Given the description of an element on the screen output the (x, y) to click on. 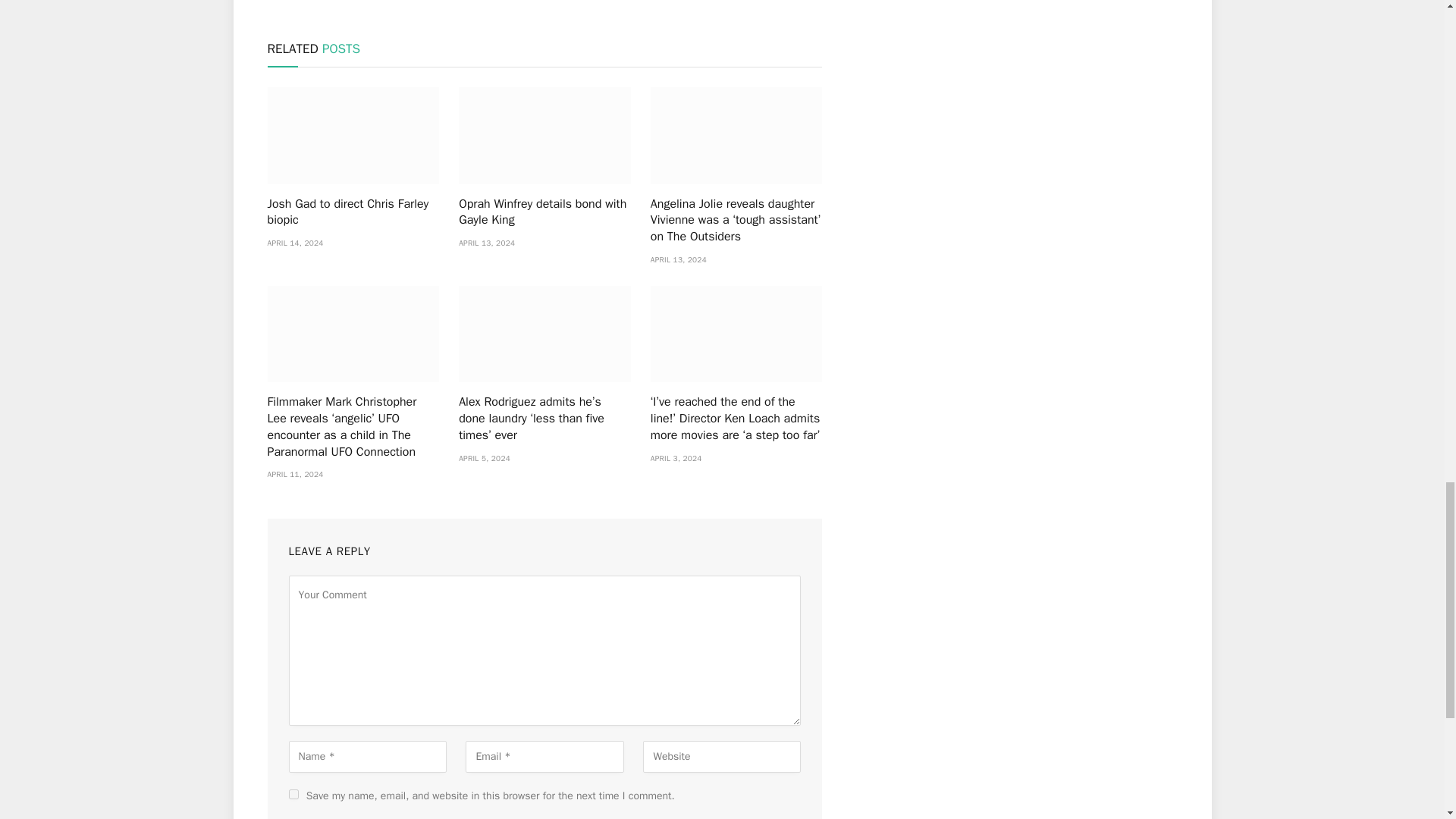
Oprah Winfrey details bond with Gayle King (544, 134)
Josh Gad to direct Chris Farley biopic (352, 134)
Josh Gad to direct Chris Farley biopic (352, 213)
yes (293, 794)
